Given the description of an element on the screen output the (x, y) to click on. 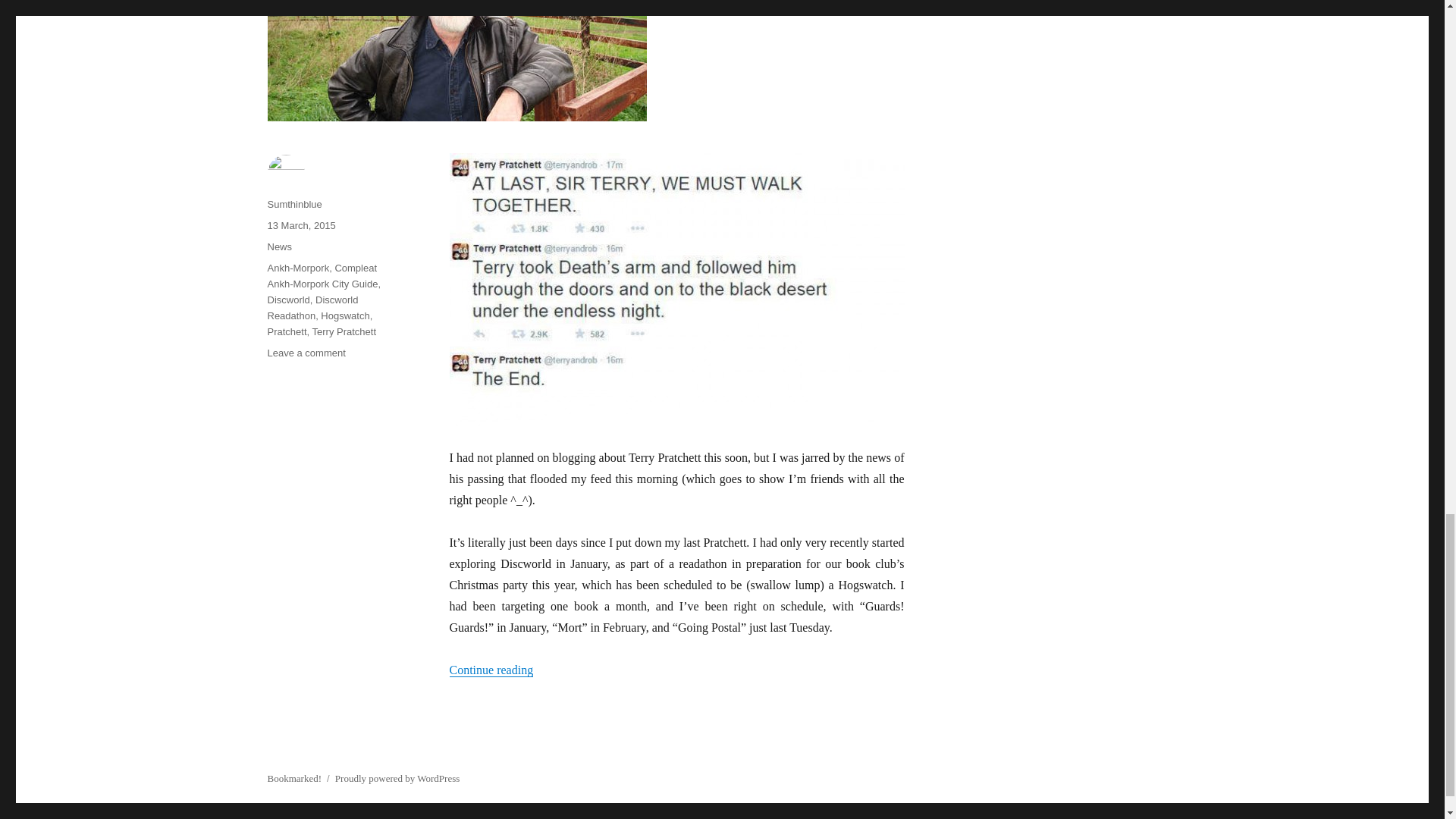
Ankh-Morpork (297, 267)
Sumthinblue (293, 204)
Compleat Ankh-Morpork City Guide (321, 275)
Discworld (287, 299)
News (279, 246)
13 March, 2015 (300, 225)
Pratchett (285, 331)
Discworld Readathon (312, 307)
Hogswatch (305, 352)
